Given the description of an element on the screen output the (x, y) to click on. 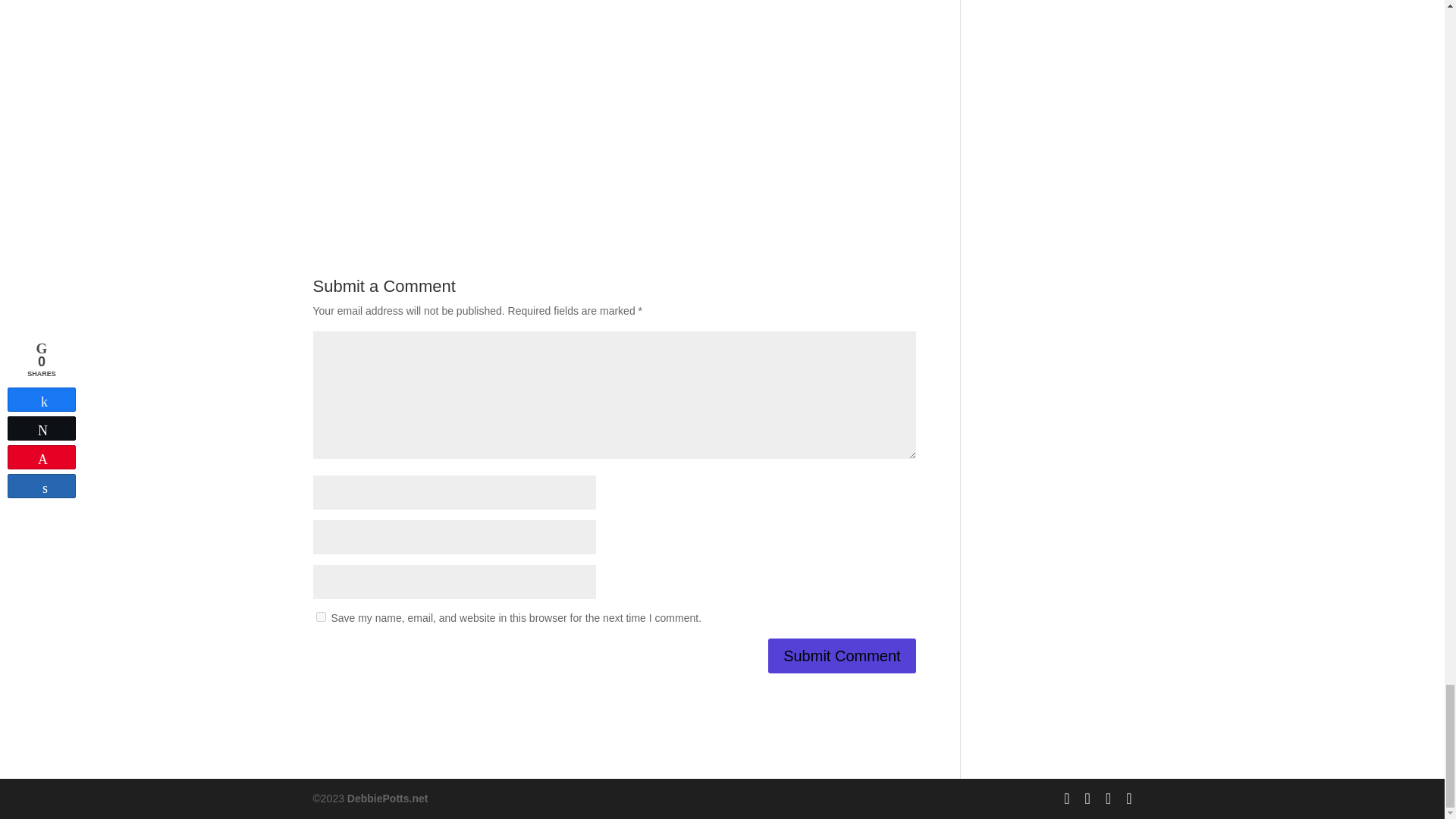
yes (319, 616)
Submit Comment (841, 655)
